Given the description of an element on the screen output the (x, y) to click on. 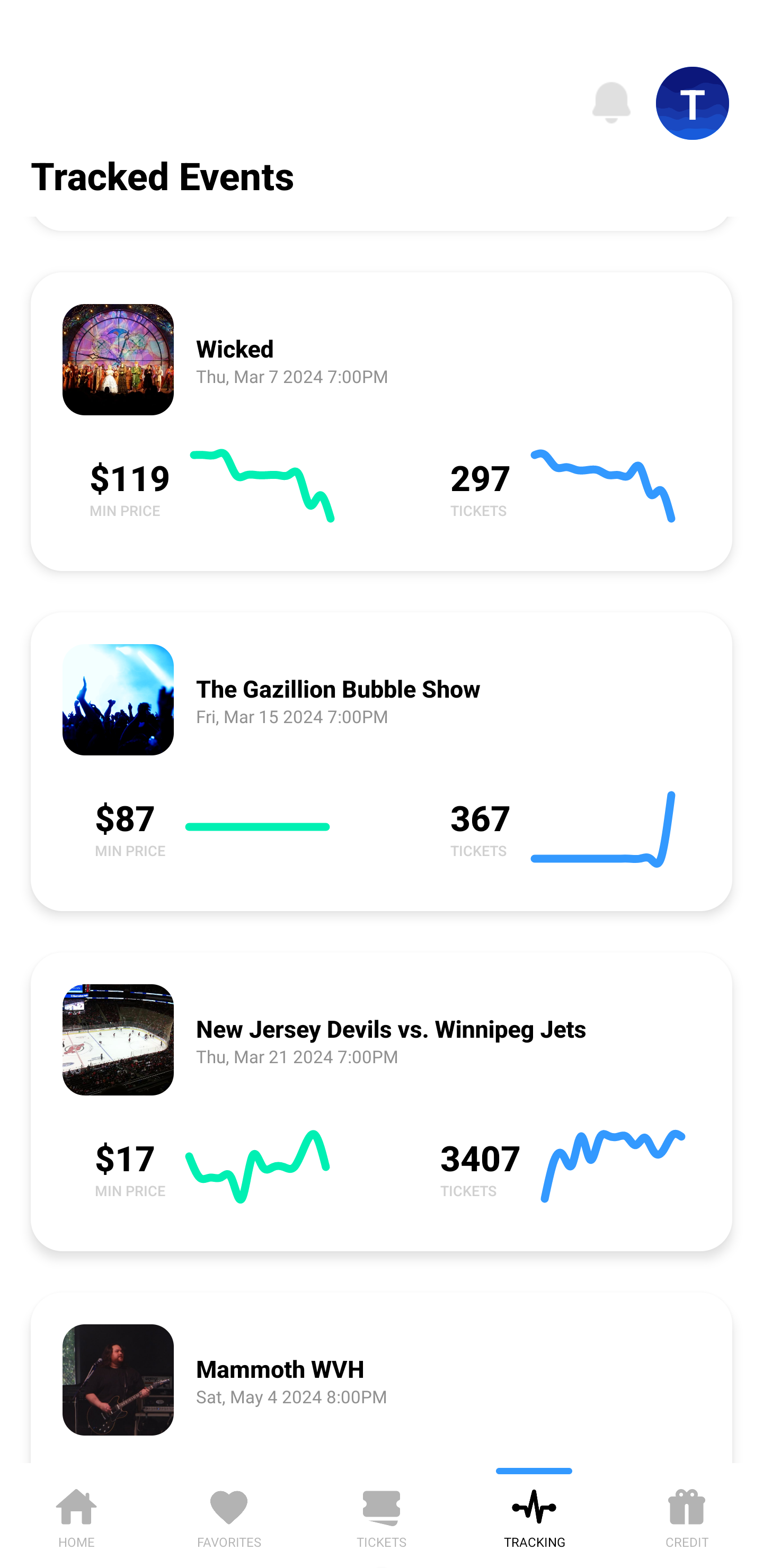
T (692, 103)
HOME (76, 1515)
FAVORITES (228, 1515)
TICKETS (381, 1515)
TRACKING (533, 1515)
CREDIT (686, 1515)
